Given the description of an element on the screen output the (x, y) to click on. 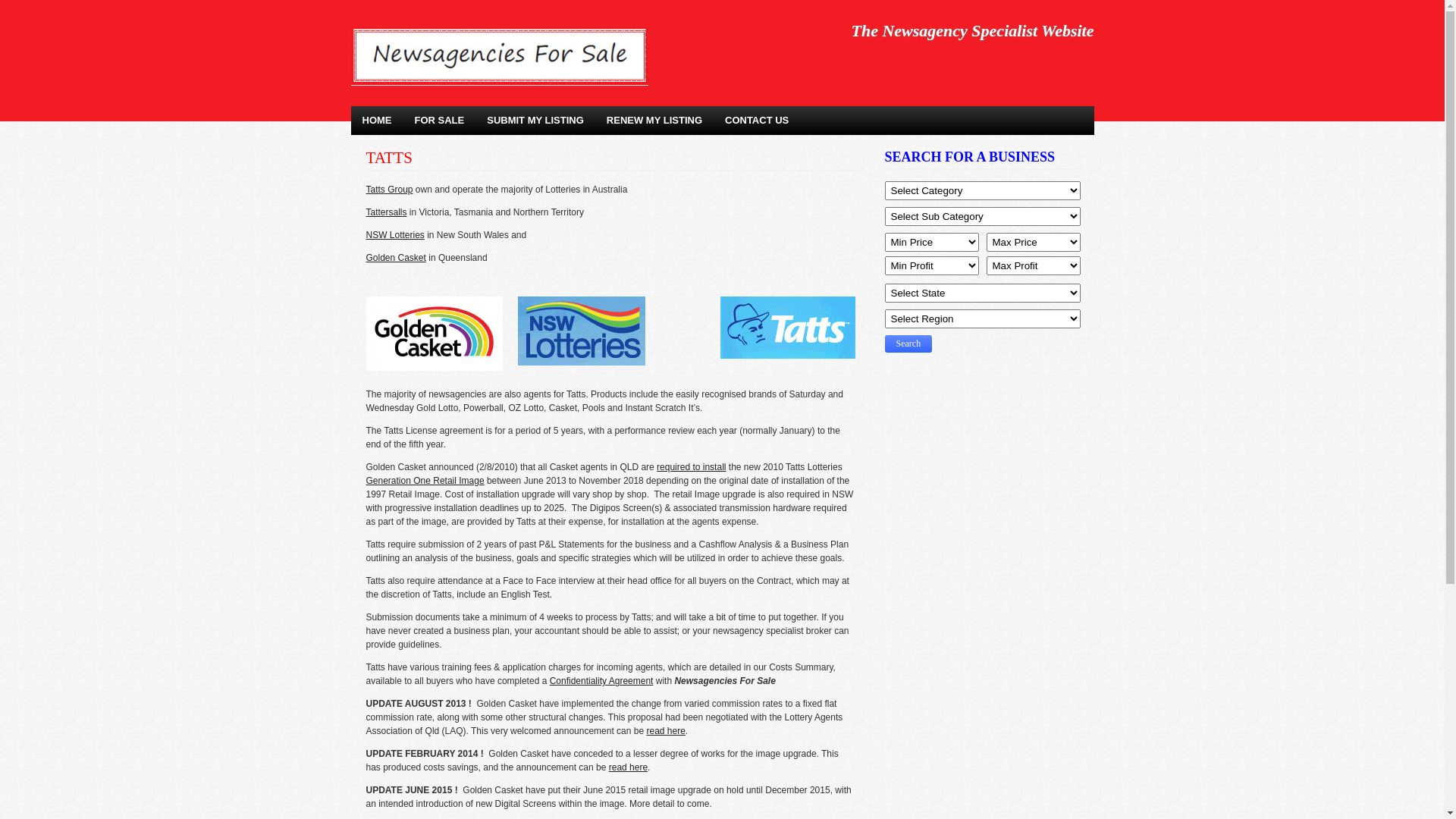
SUBMIT MY LISTING Element type: text (535, 120)
read here Element type: text (627, 767)
Search Element type: text (907, 343)
NSW Lotteries Element type: text (394, 234)
Tatts Group Element type: text (388, 189)
RENEW MY LISTING Element type: text (654, 120)
Tattersalls Element type: text (385, 212)
Confidentiality Agreement Element type: text (601, 680)
CONTACT US Element type: text (756, 120)
Golden Casket Element type: text (395, 257)
FOR SALE Element type: text (439, 120)
read here Element type: text (665, 730)
HOME Element type: text (376, 120)
required to install Element type: text (690, 466)
Generation One Retail Image Element type: text (424, 480)
